Given the description of an element on the screen output the (x, y) to click on. 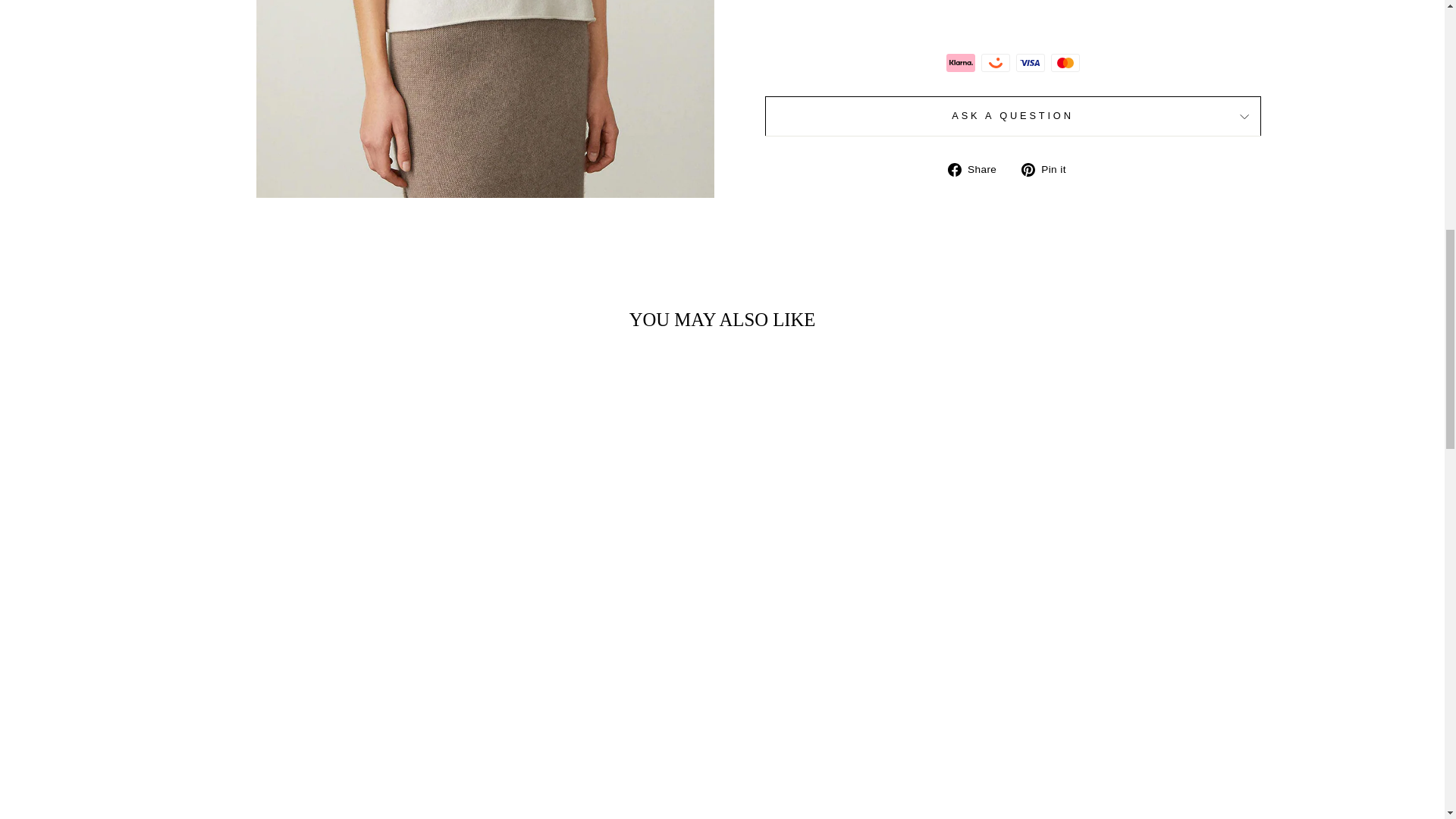
Vipps (995, 63)
Visa (1030, 63)
Klarna (960, 63)
Mastercard (1065, 63)
Share on Facebook (977, 168)
Pin on Pinterest (1049, 168)
